Given the description of an element on the screen output the (x, y) to click on. 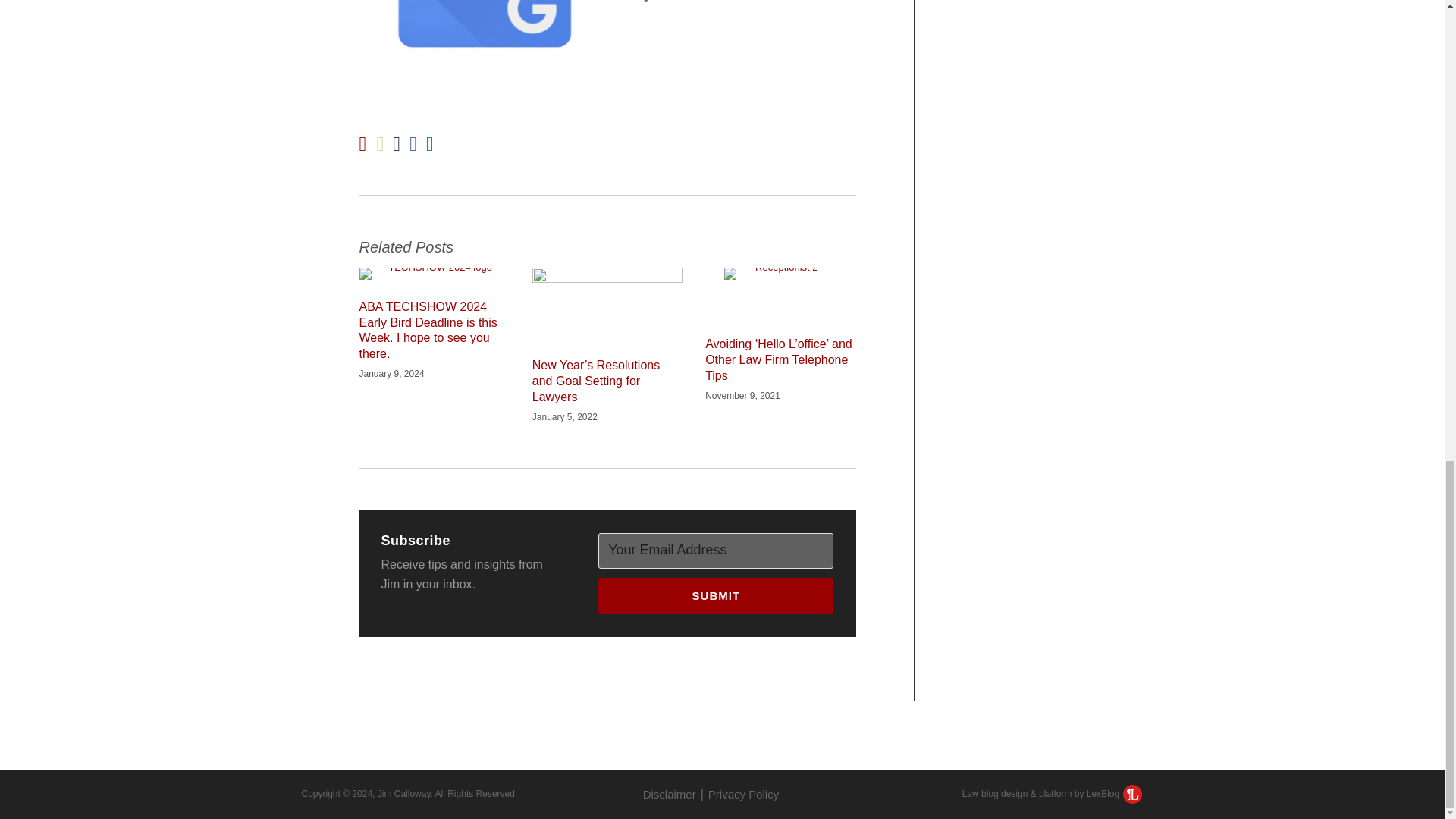
Submit (715, 596)
Disclaimer (669, 794)
Submit (715, 596)
Privacy Policy (742, 794)
LexBlog Logo (1131, 793)
